Given the description of an element on the screen output the (x, y) to click on. 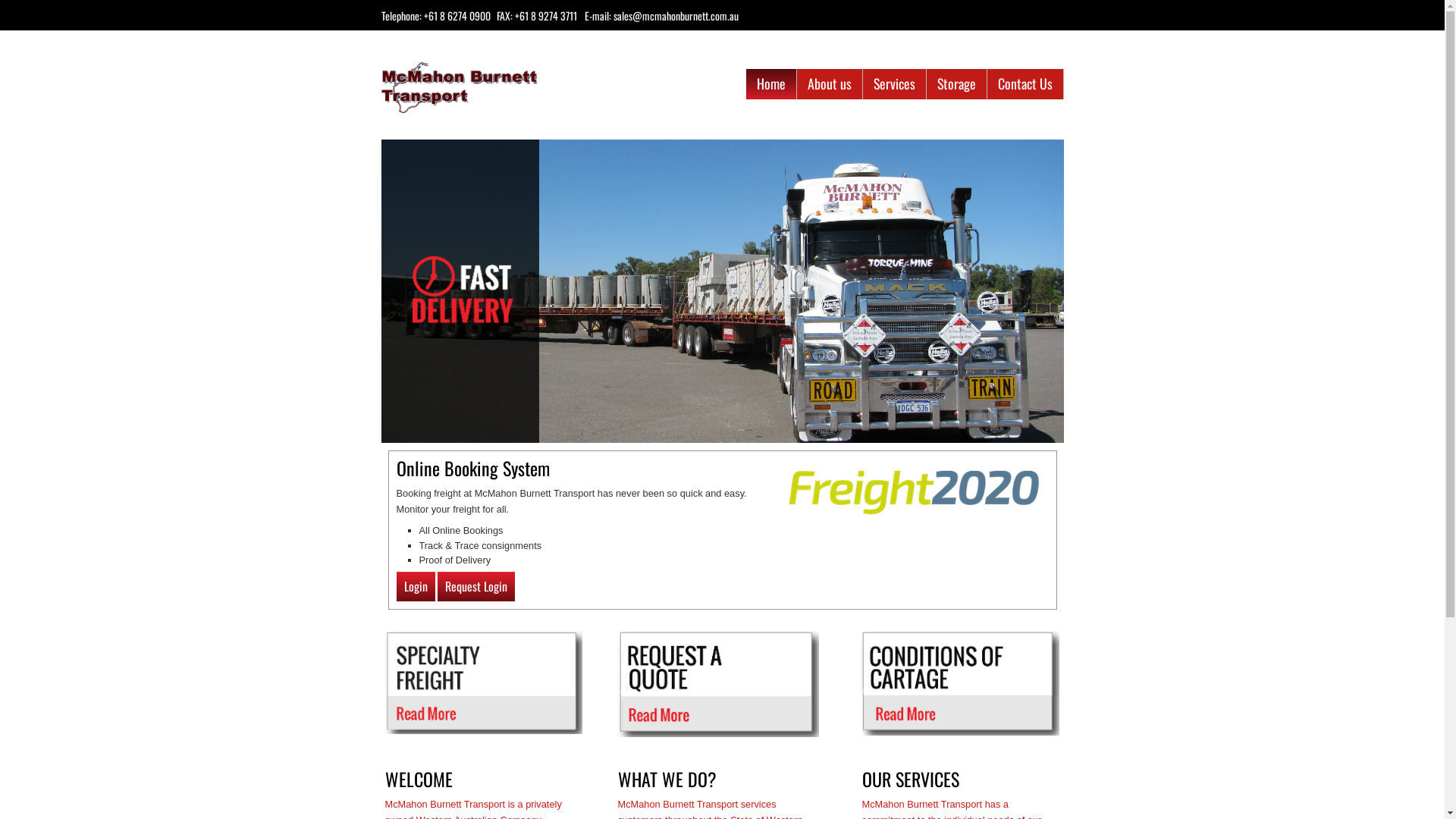
Storage Element type: text (956, 83)
Home Element type: text (771, 83)
Services Element type: text (894, 83)
About us Element type: text (829, 83)
Login Element type: text (414, 586)
Request Login Element type: text (475, 586)
Contact Us Element type: text (1025, 83)
sales@mcmahonburnett.com.au Element type: text (674, 15)
